Given the description of an element on the screen output the (x, y) to click on. 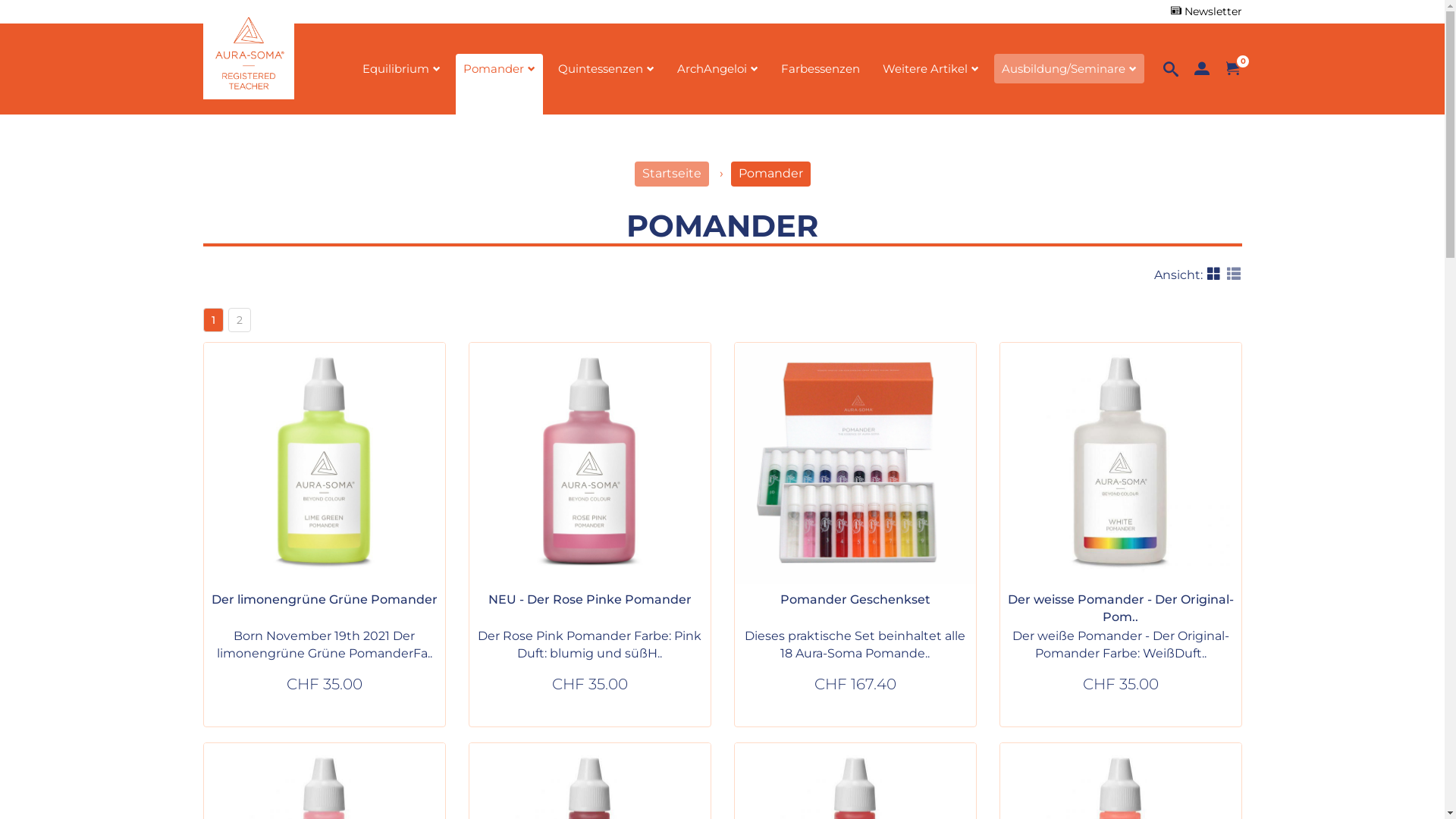
Equilibrium Element type: text (401, 83)
Ausbildung/Seminare Element type: text (1069, 68)
1 Element type: text (213, 319)
0 Element type: text (1232, 69)
ArchAngeloi Element type: text (717, 83)
Pomander Element type: text (770, 173)
NEU - Der Rose Pinke Pomander Element type: text (589, 599)
Weitere Artikel Element type: text (930, 83)
POMANDER Element type: text (722, 225)
Newsletter Element type: text (1206, 11)
Quintessenzen Element type: text (606, 83)
2 Element type: text (238, 319)
Pomander Geschenkset Element type: text (854, 599)
Startseite Element type: text (670, 173)
Farbessenzen Element type: text (820, 83)
Der weisse Pomander - Der Original-Pom.. Element type: text (1120, 608)
Pomander Element type: text (498, 83)
Dieses praktische Set beinhaltet alle 18 Aura-Soma Pomande.. Element type: text (854, 644)
